Given the description of an element on the screen output the (x, y) to click on. 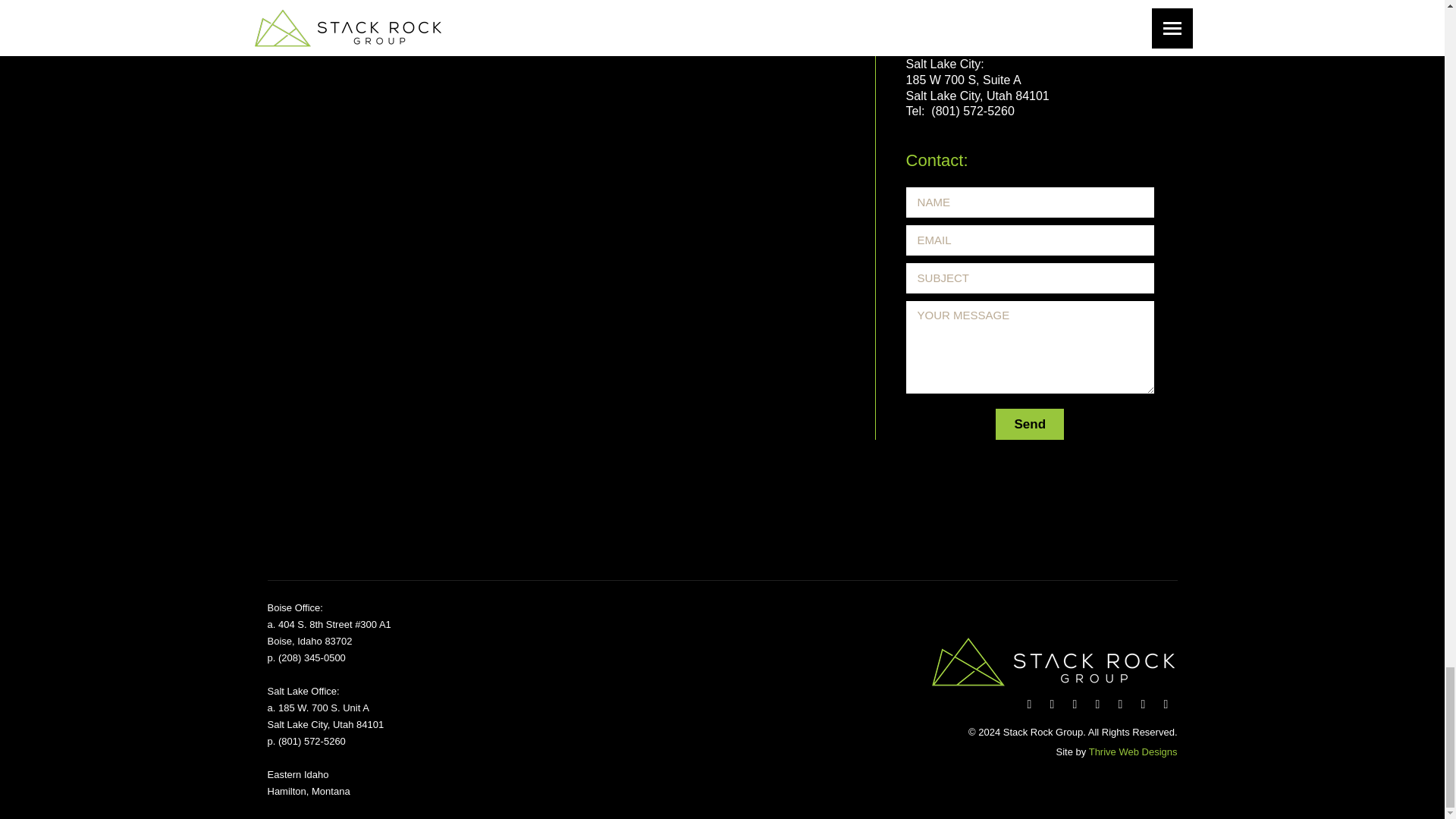
Facebook page opens in new window (1029, 704)
Website page opens in new window (1165, 704)
YouTube page opens in new window (1074, 704)
Vimeo page opens in new window (1119, 704)
Linkedin page opens in new window (1096, 704)
Twitter page opens in new window (1051, 704)
Instagram page opens in new window (1142, 704)
